Given the description of an element on the screen output the (x, y) to click on. 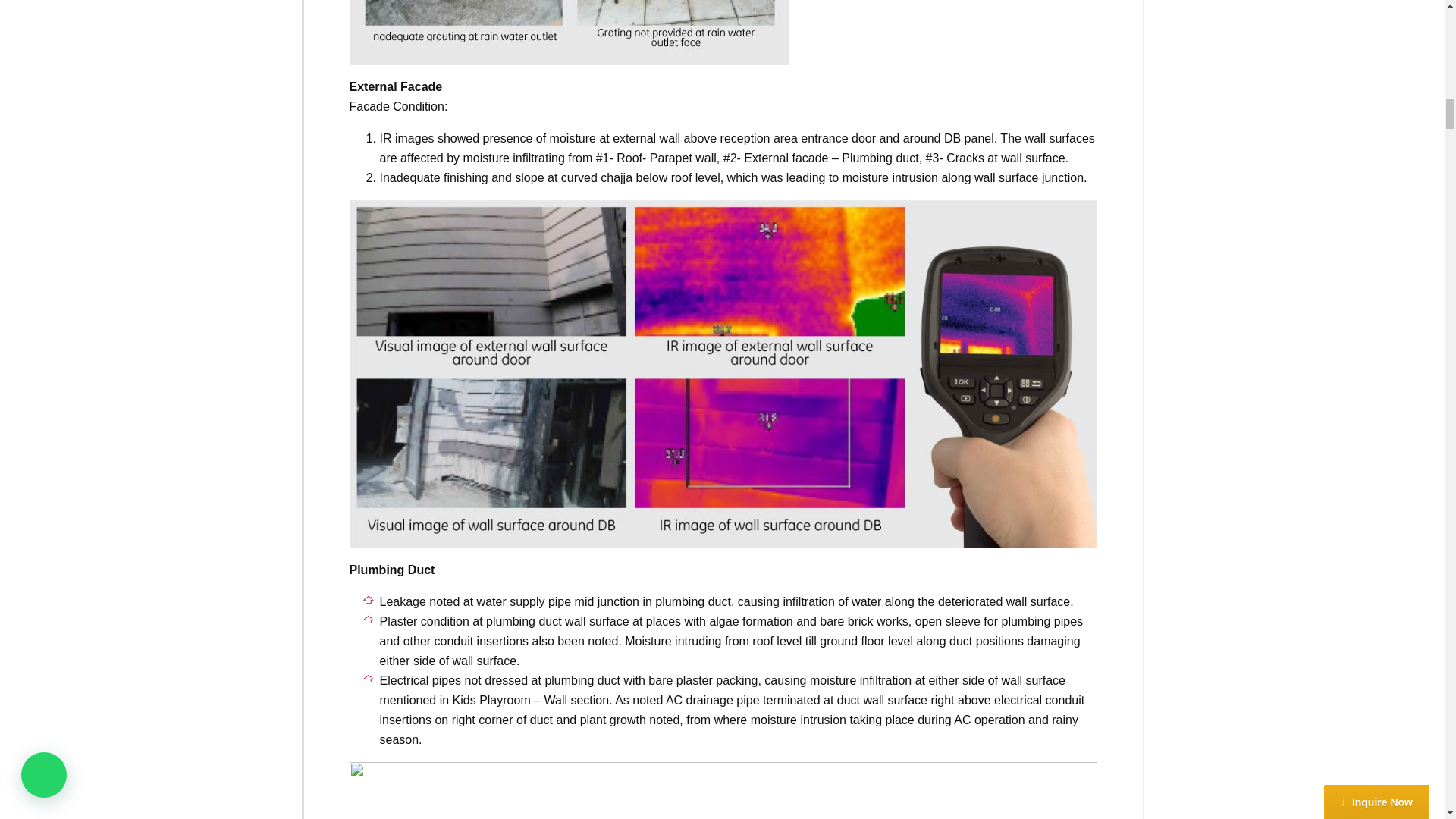
Banner-01 (722, 790)
Banner-05 (569, 32)
